Given the description of an element on the screen output the (x, y) to click on. 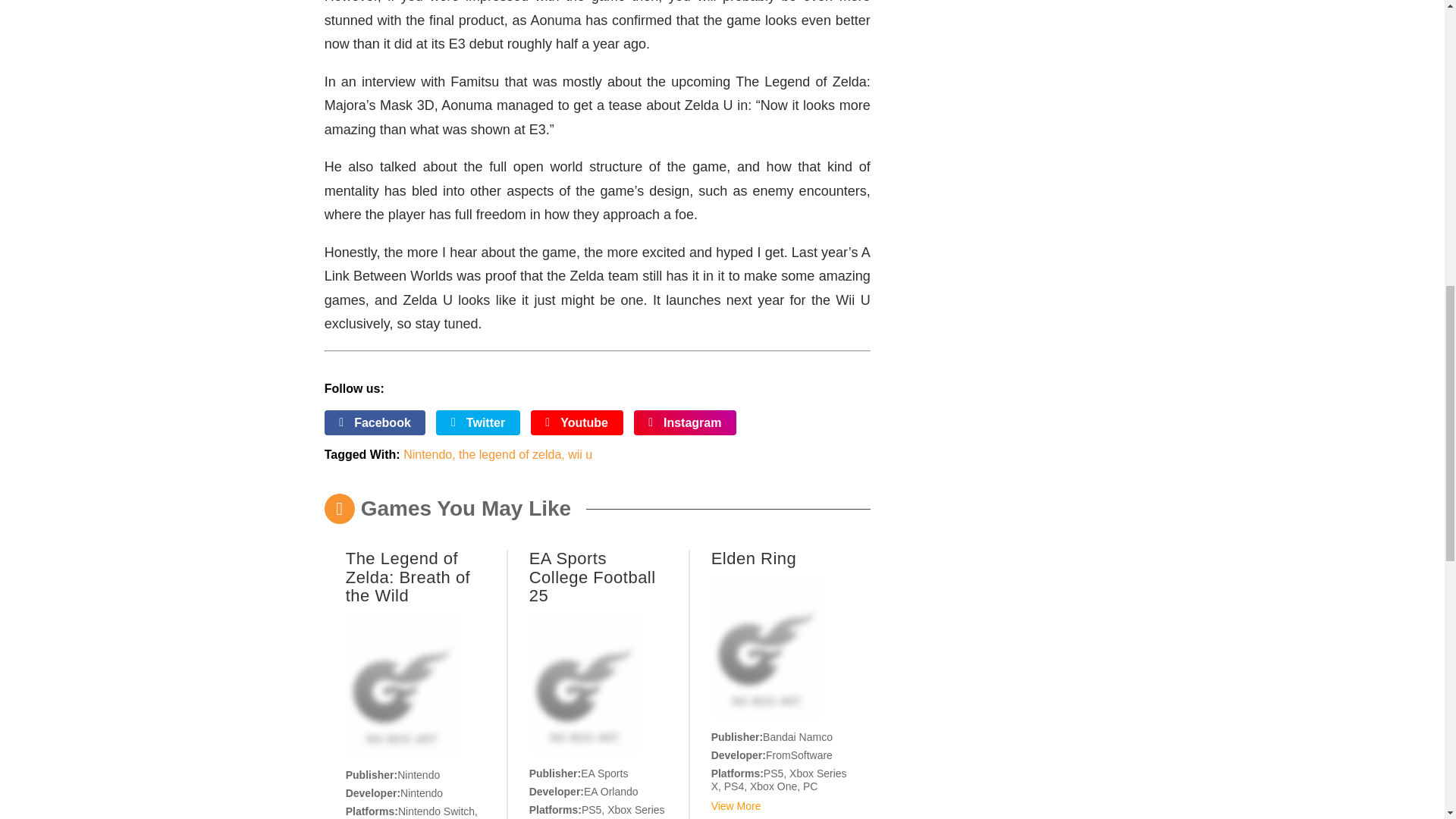
Facebook (375, 422)
